Given the description of an element on the screen output the (x, y) to click on. 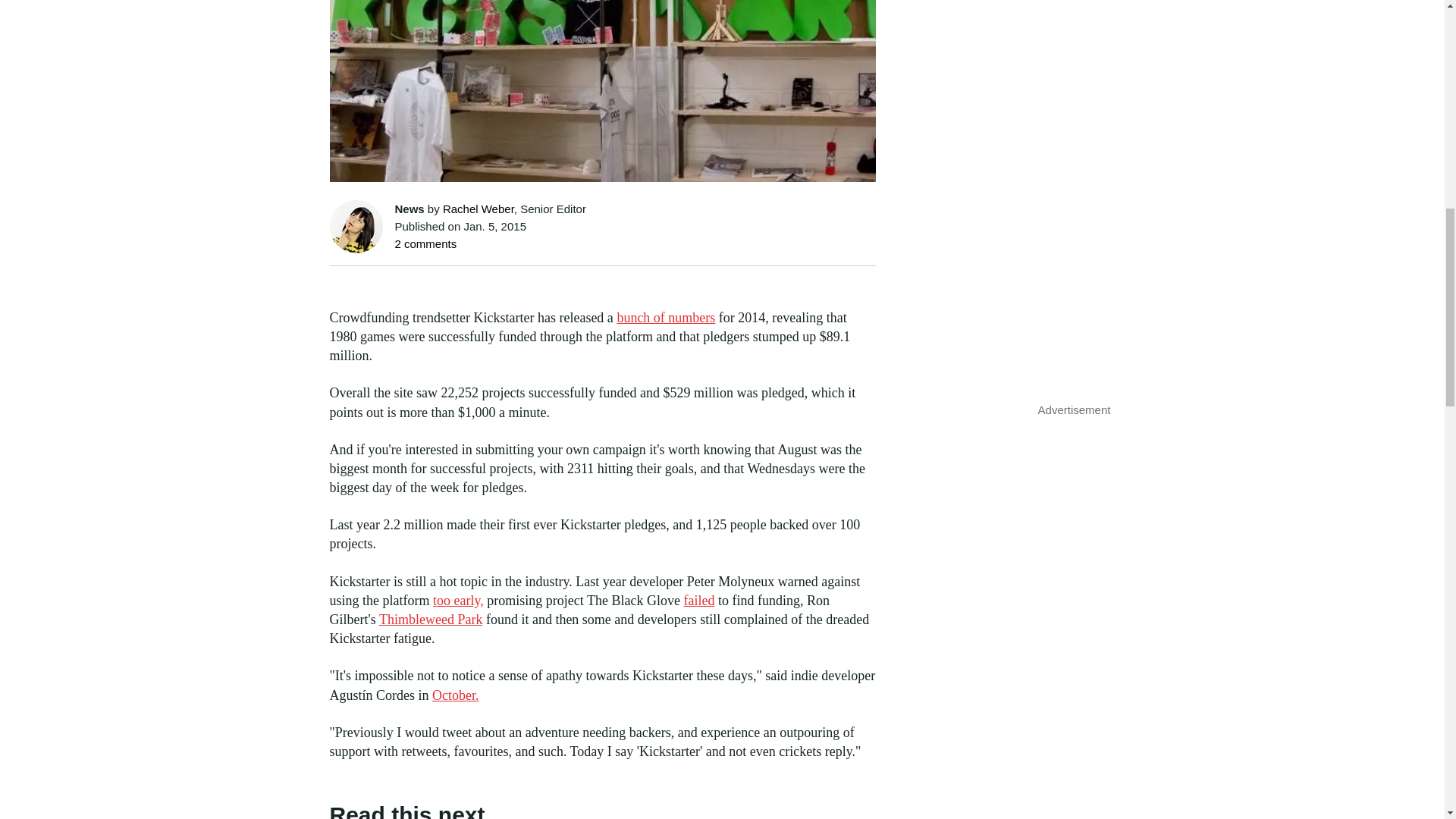
too early, (457, 600)
Thimbleweed Park (429, 619)
bunch of numbers (664, 317)
failed (698, 600)
Rachel Weber (477, 208)
2 comments (425, 243)
October. (455, 694)
